Given the description of an element on the screen output the (x, y) to click on. 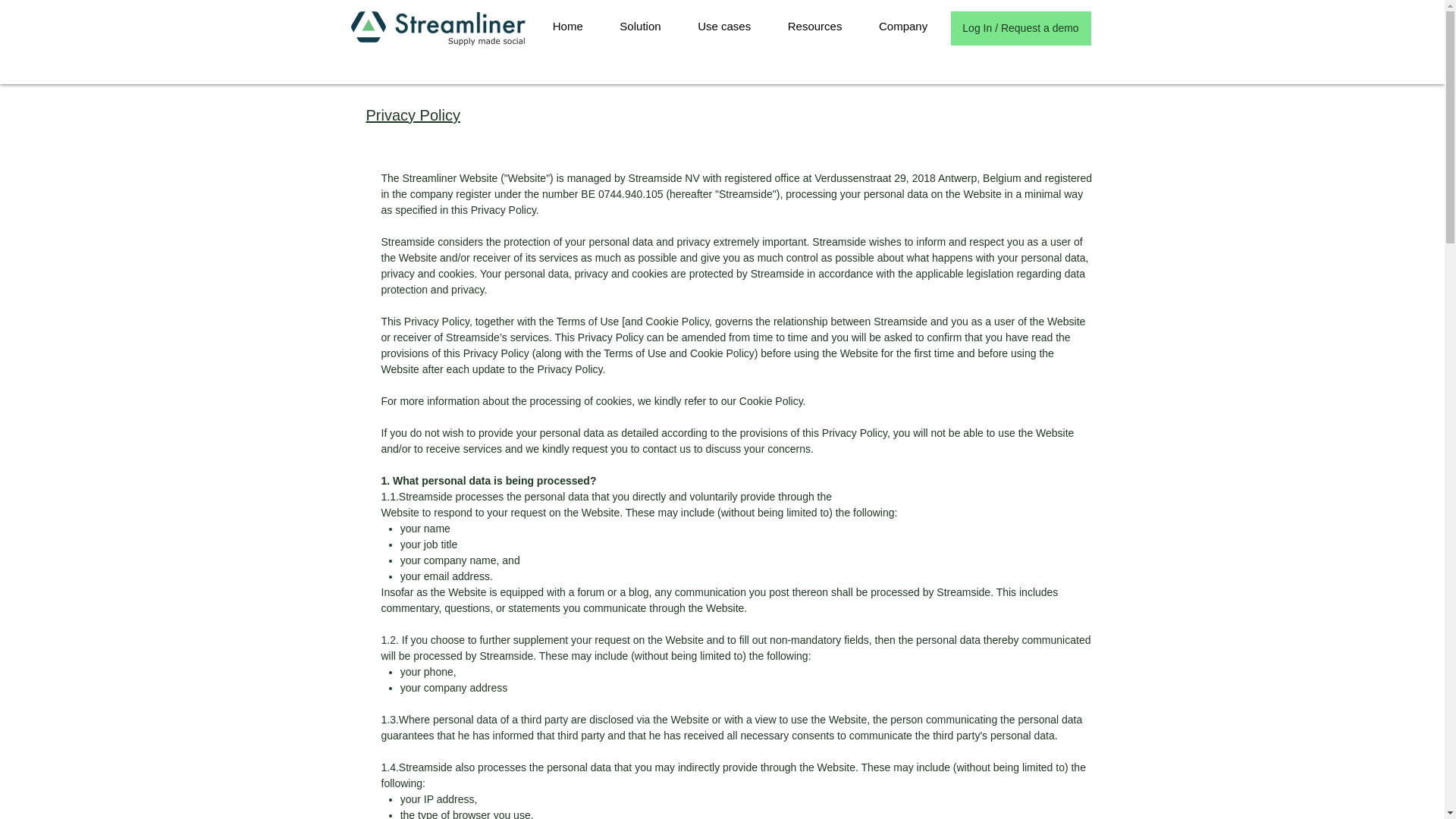
Use cases (724, 25)
Home (567, 25)
Company (903, 25)
